Given the description of an element on the screen output the (x, y) to click on. 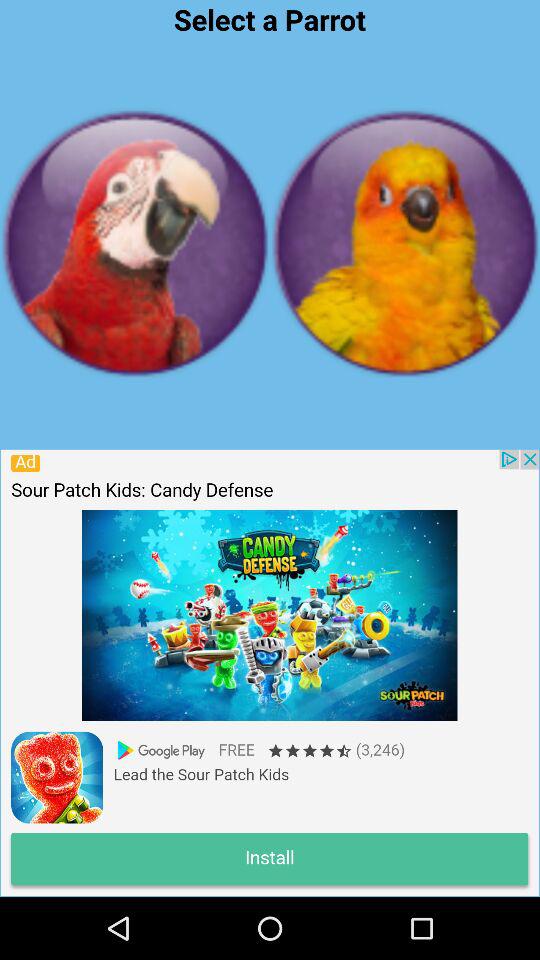
advertisement (269, 672)
